Given the description of an element on the screen output the (x, y) to click on. 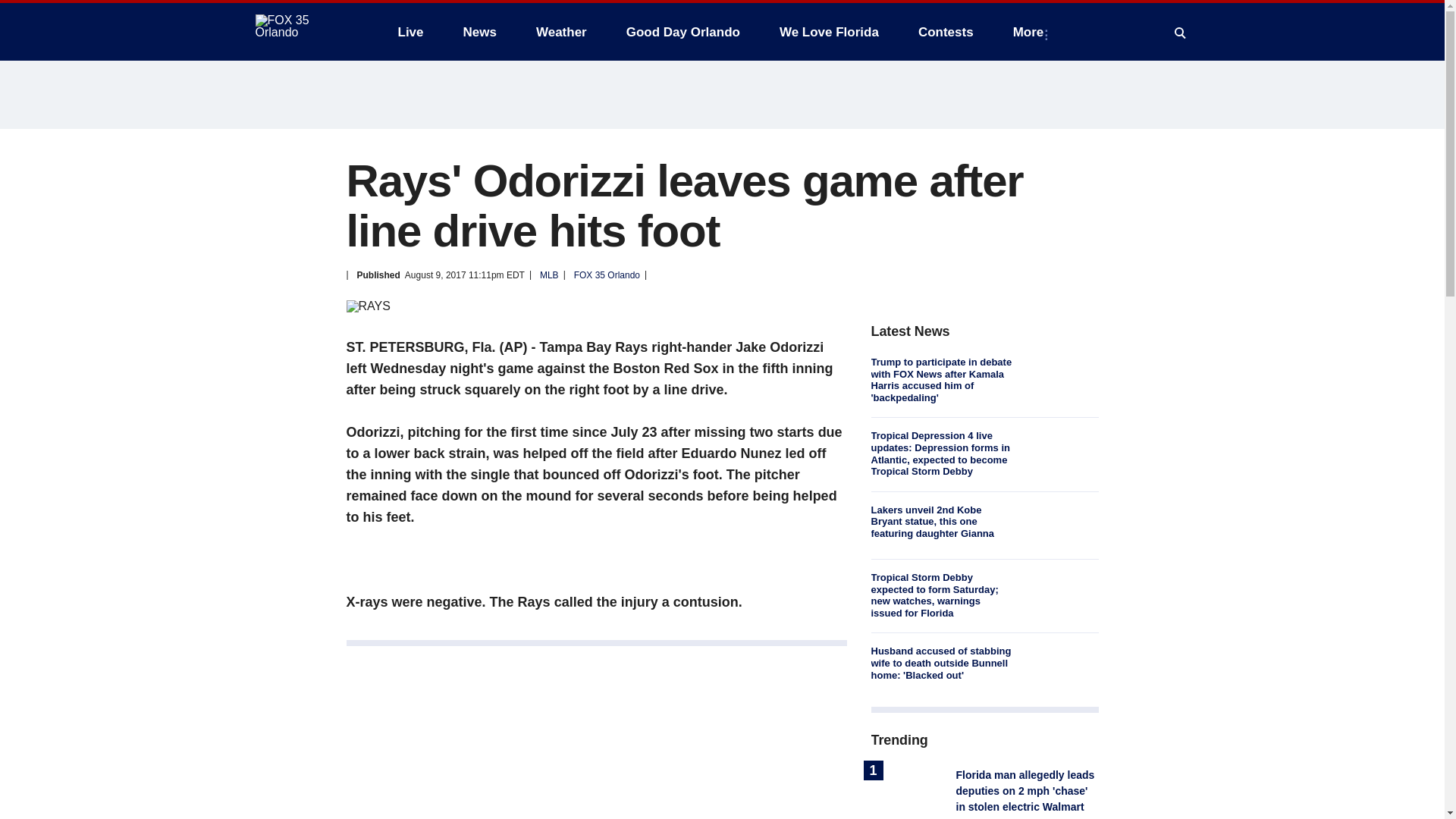
More (1031, 32)
We Love Florida (829, 32)
Good Day Orlando (683, 32)
Weather (561, 32)
News (479, 32)
Live (410, 32)
Contests (945, 32)
